Given the description of an element on the screen output the (x, y) to click on. 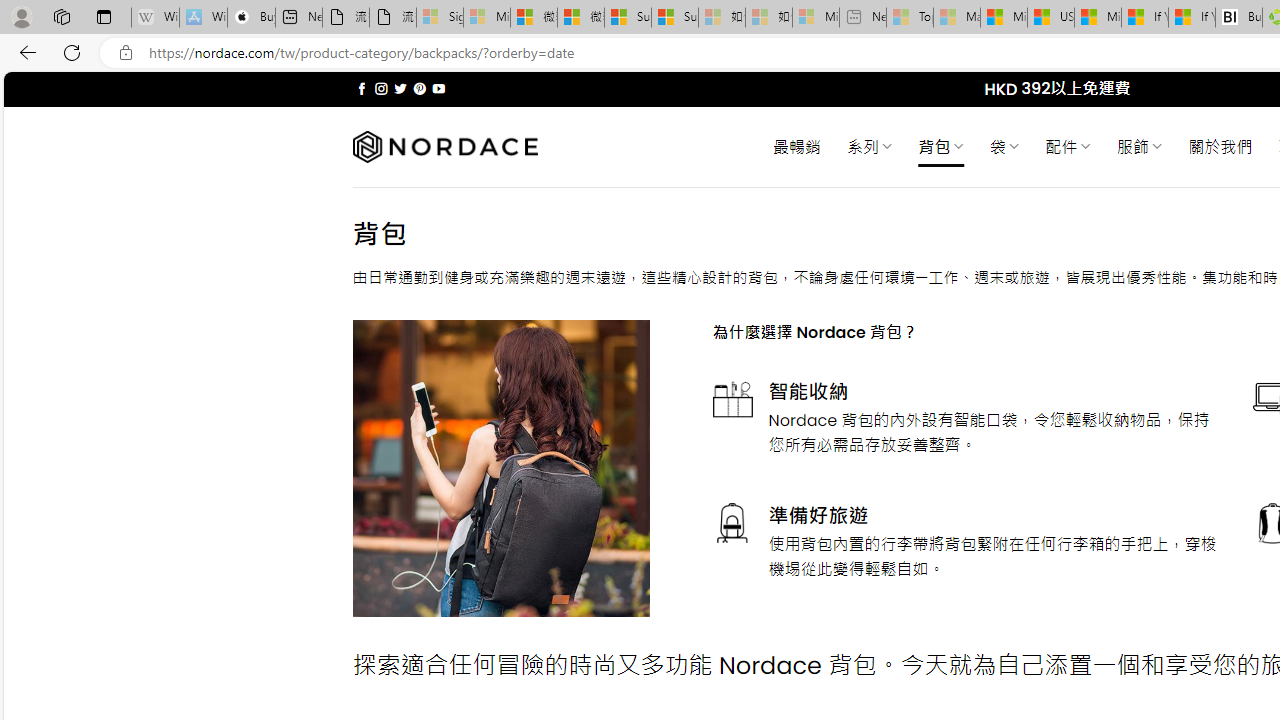
Follow on Pinterest (419, 88)
Sign in to your Microsoft account - Sleeping (440, 17)
Buy iPad - Apple (251, 17)
Top Stories - MSN - Sleeping (910, 17)
Microsoft Services Agreement - Sleeping (486, 17)
